Given the description of an element on the screen output the (x, y) to click on. 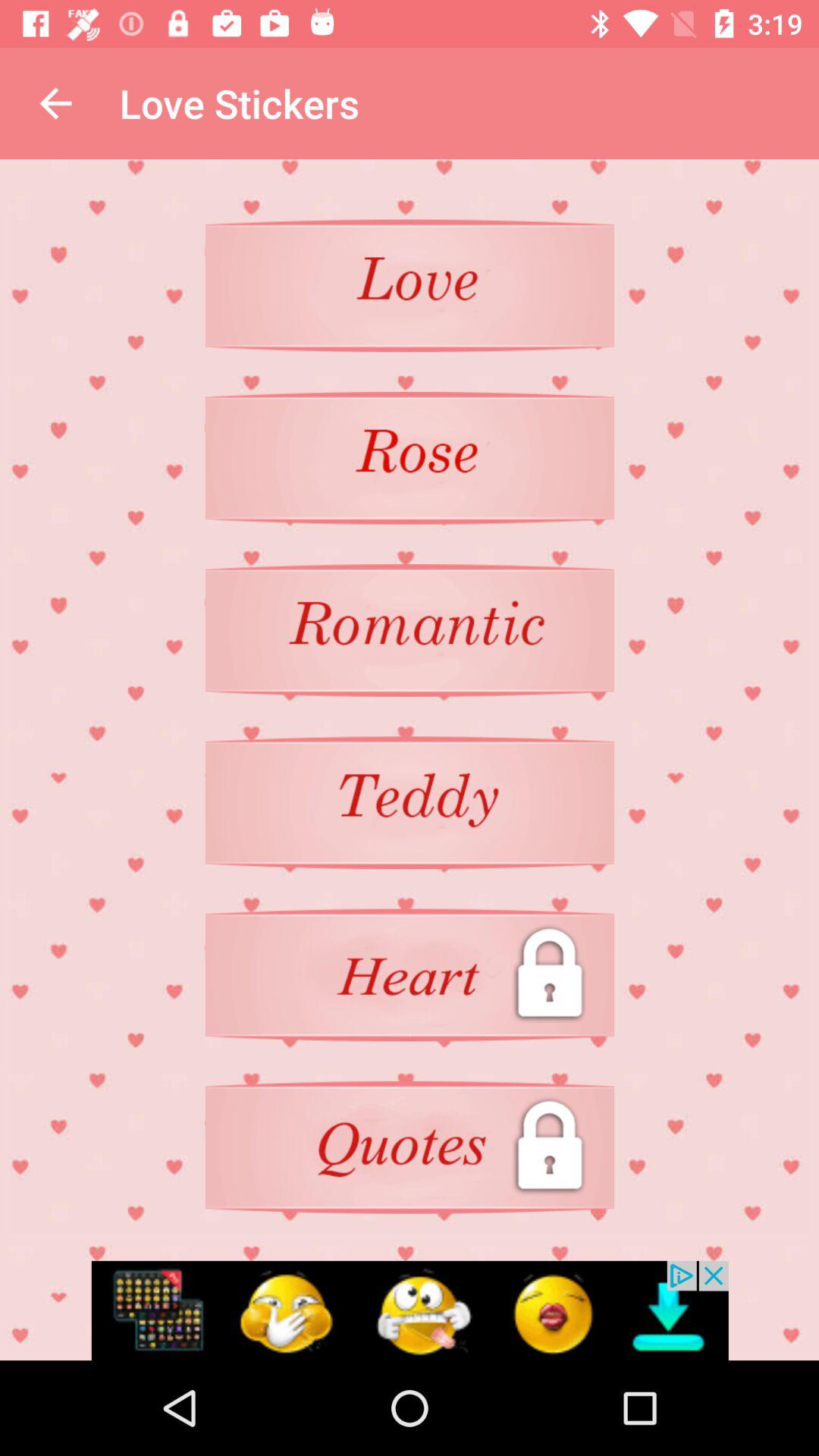
open item (409, 1147)
